Given the description of an element on the screen output the (x, y) to click on. 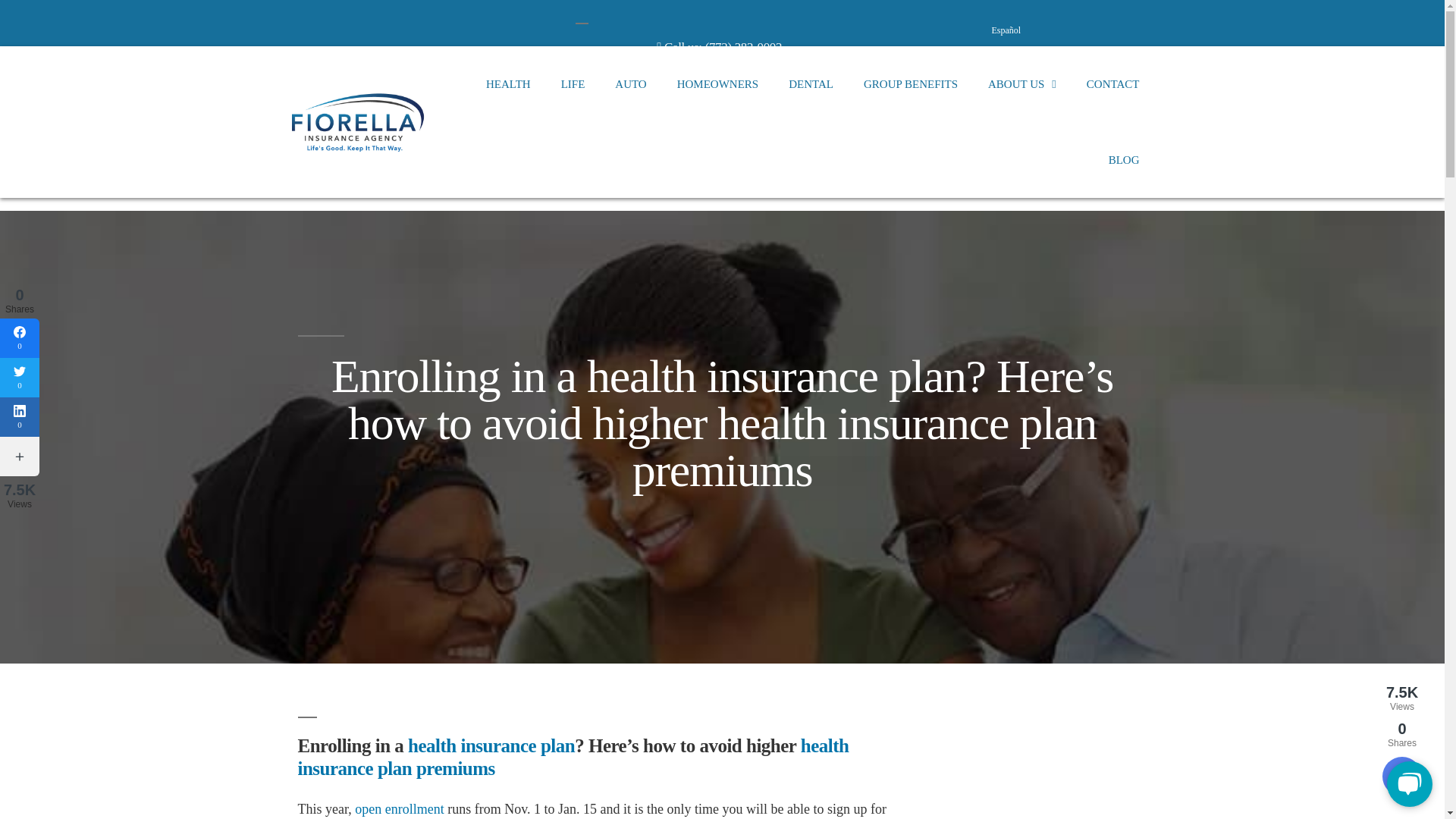
CONTACT (1112, 83)
HEALTH (508, 83)
ABOUT US (1021, 83)
DENTAL (810, 83)
HOMEOWNERS (718, 83)
GROUP BENEFITS (910, 83)
